Given the description of an element on the screen output the (x, y) to click on. 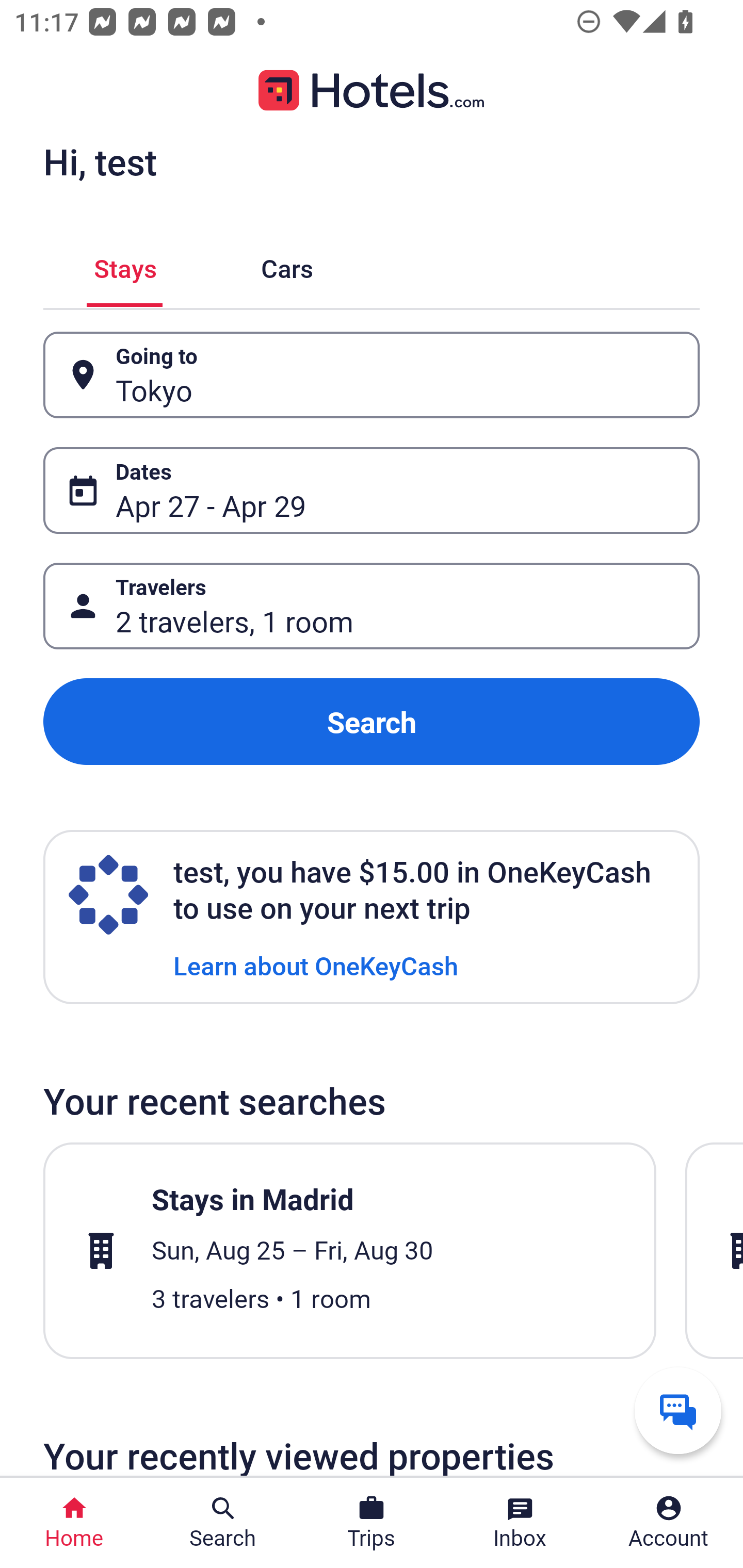
Hi, test (99, 161)
Cars (286, 265)
Going to Button Tokyo (371, 375)
Dates Button Apr 27 - Apr 29 (371, 489)
Travelers Button 2 travelers, 1 room (371, 605)
Search (371, 721)
Learn about OneKeyCash Learn about OneKeyCash Link (315, 964)
Get help from a virtual agent (677, 1410)
Search Search Button (222, 1522)
Trips Trips Button (371, 1522)
Inbox Inbox Button (519, 1522)
Account Profile. Button (668, 1522)
